Given the description of an element on the screen output the (x, y) to click on. 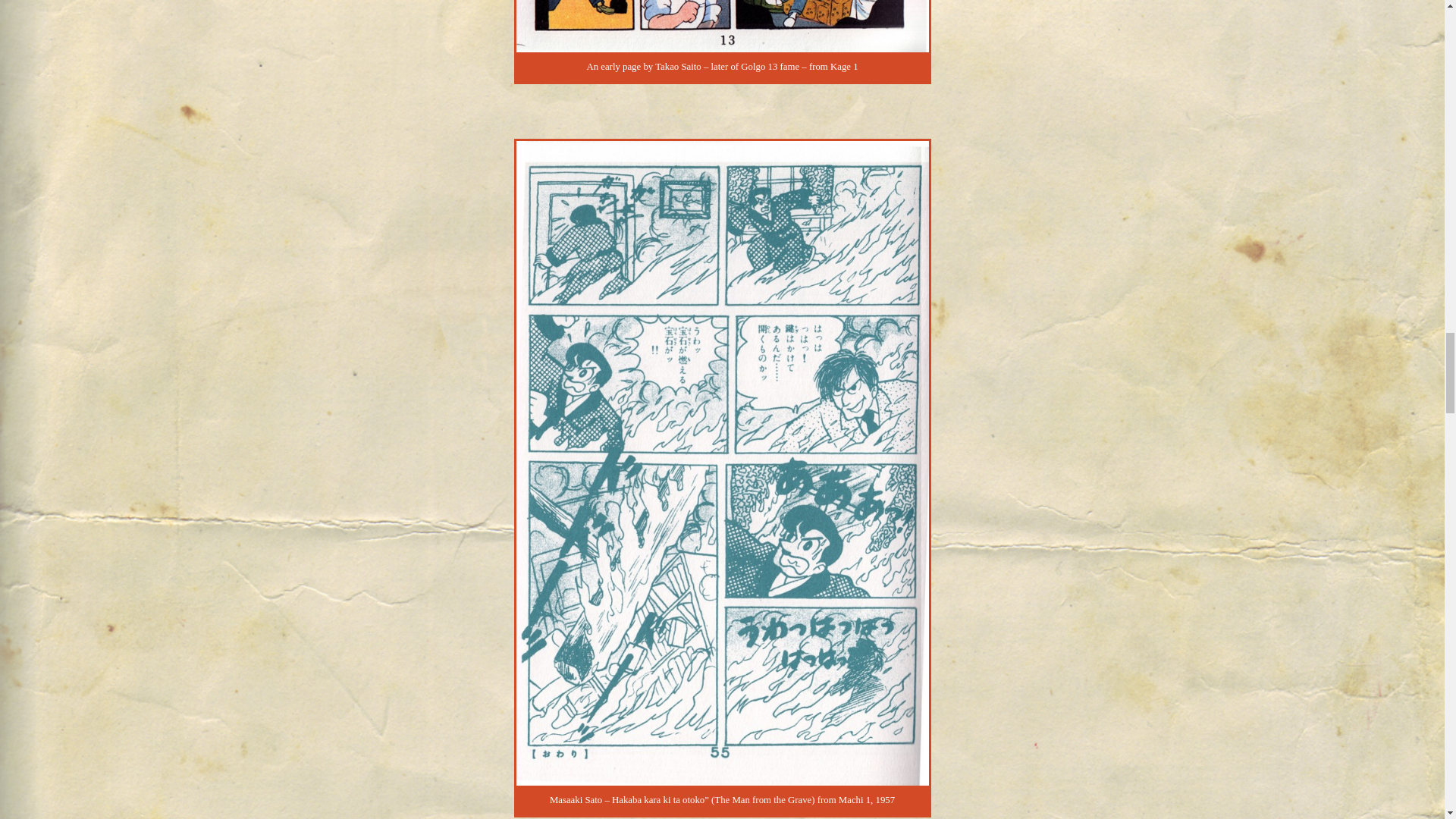
Takao Saito - Kage 1 -p13 (721, 26)
